Given the description of an element on the screen output the (x, y) to click on. 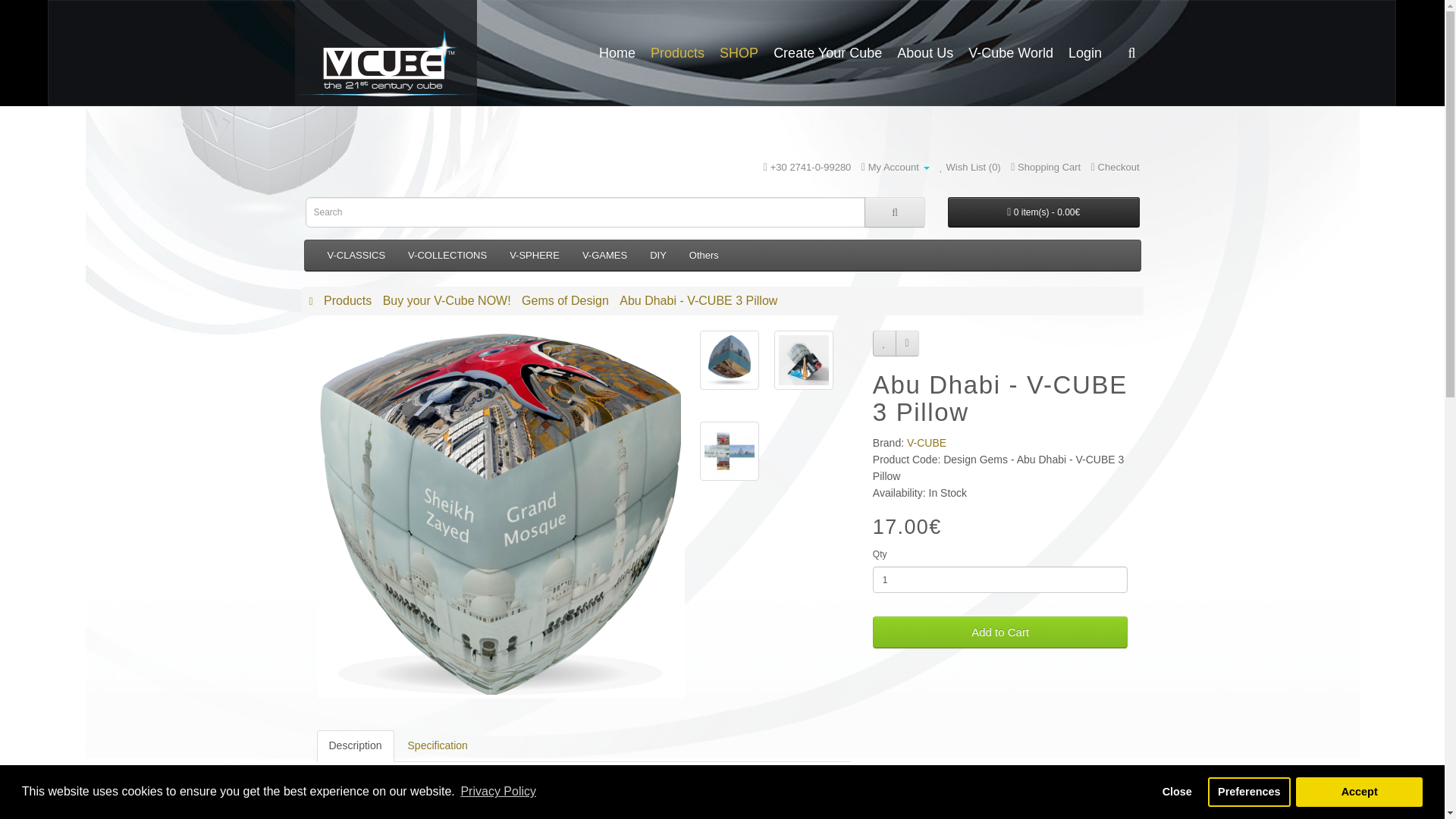
Preferences (1249, 791)
Privacy Policy (498, 791)
Accept (1358, 791)
Close (1176, 791)
SearchWord (1132, 53)
1 (1000, 579)
